Given the description of an element on the screen output the (x, y) to click on. 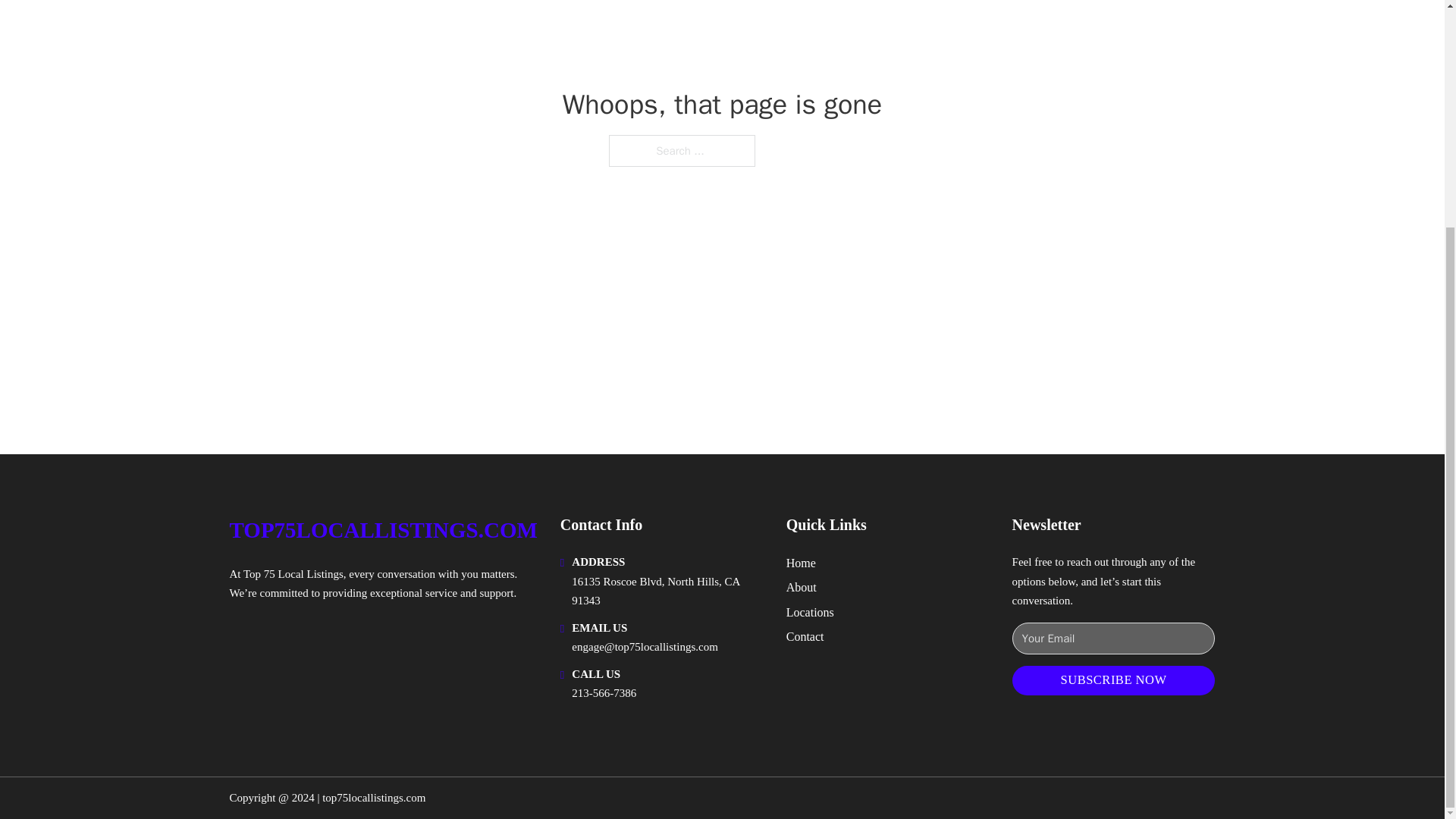
Contact (805, 636)
TOP75LOCALLISTINGS.COM (382, 529)
About (801, 587)
Locations (810, 611)
Home (800, 562)
213-566-7386 (604, 693)
SUBSCRIBE NOW (1113, 680)
